Given the description of an element on the screen output the (x, y) to click on. 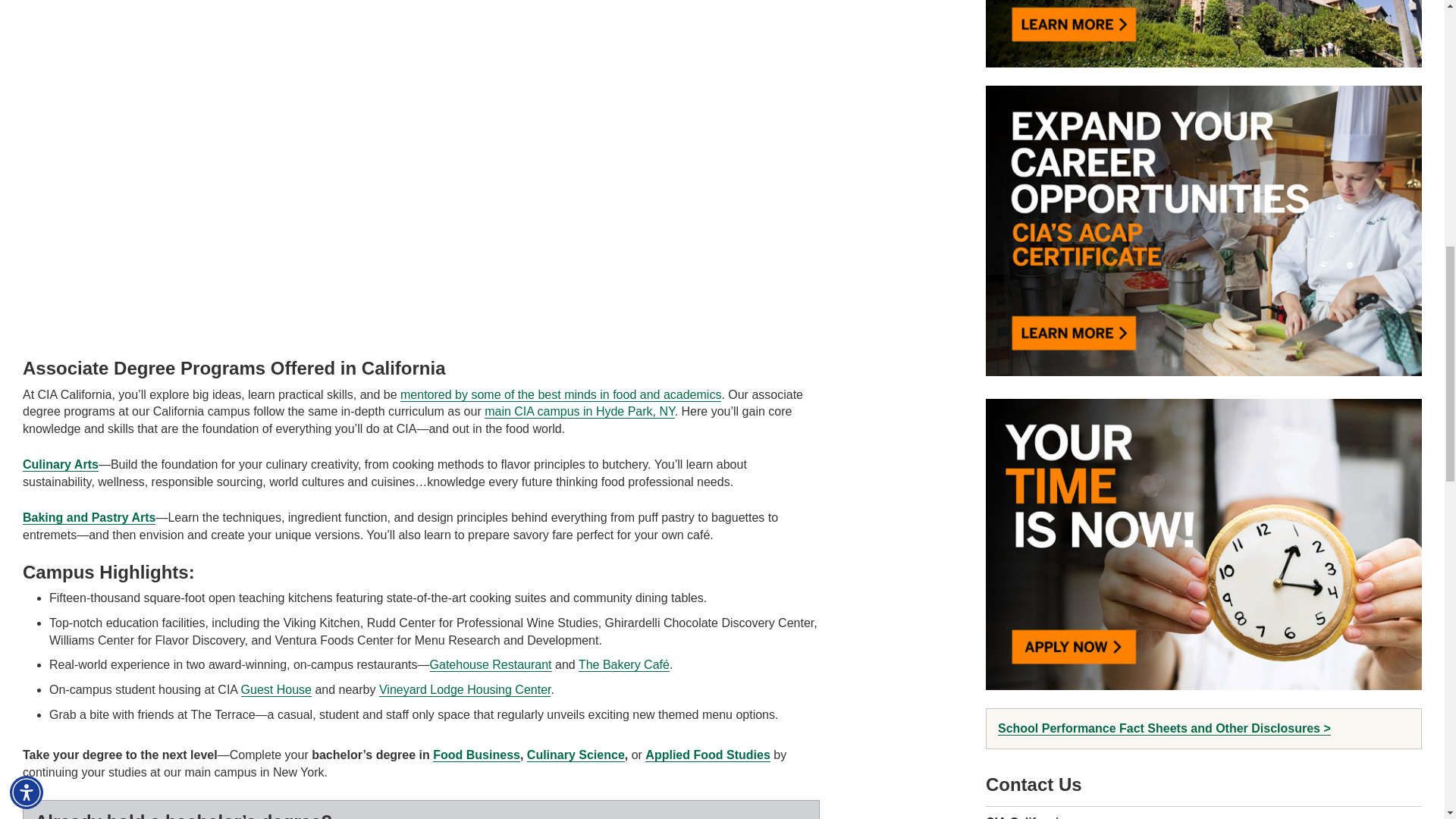
culinary arts (61, 464)
Food Business (475, 755)
Vineyard Lodge Housing Center (464, 689)
Applied Food Studies (707, 755)
Guest House (276, 689)
Culinary Science (575, 755)
baking and pastry arts (89, 517)
Gatehouse Restaurant (490, 664)
mentored by some of the best minds in food and academics (560, 395)
main CIA campus in Hyde Park, NY (579, 411)
